Given the description of an element on the screen output the (x, y) to click on. 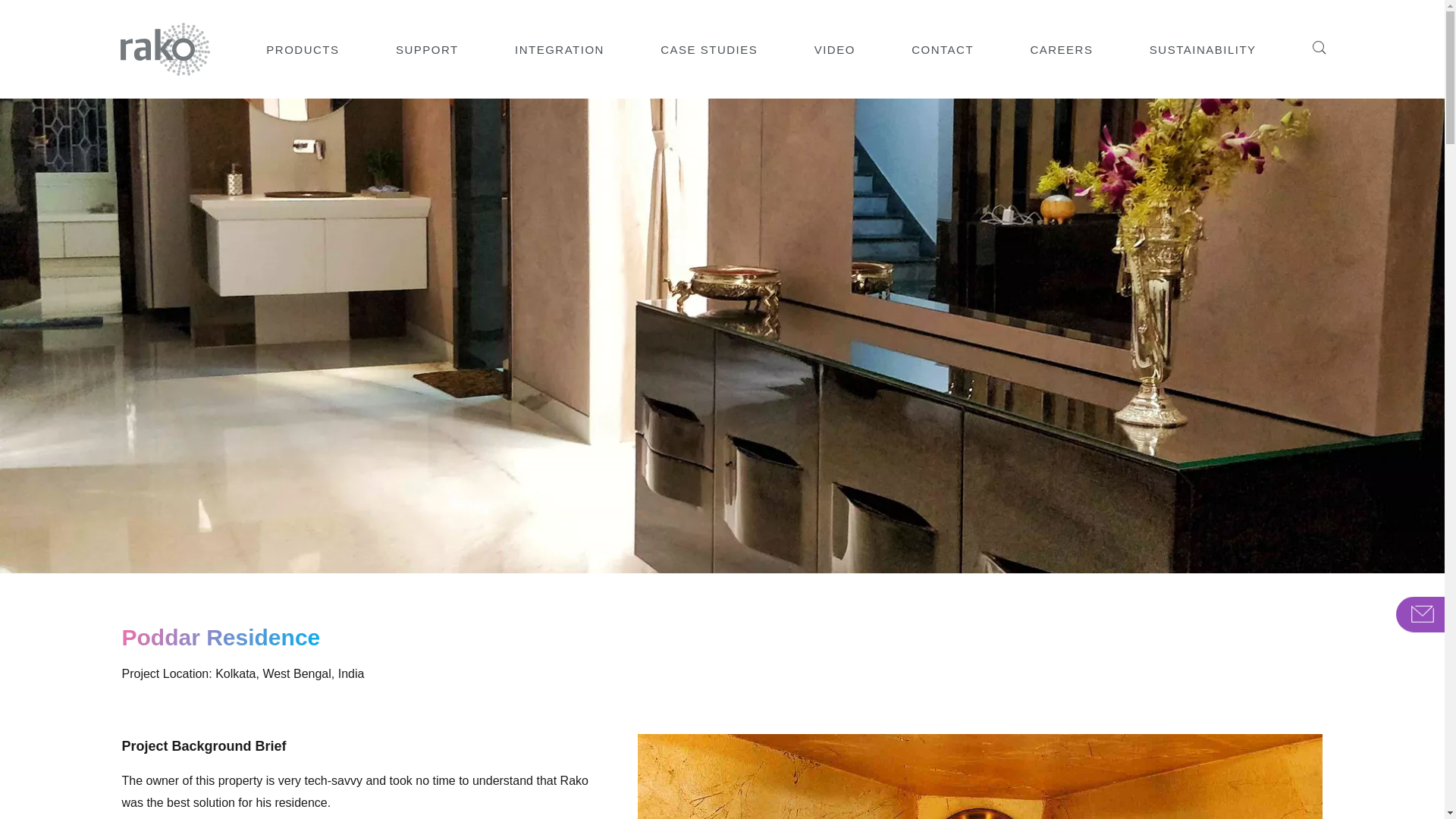
PRODUCTS (302, 49)
CASE STUDIES (709, 49)
CAREERS (1061, 49)
SUSTAINABILITY (1203, 49)
Search (1316, 43)
INTEGRATION (559, 49)
VIDEO (834, 49)
CONTACT (942, 49)
SUPPORT (427, 49)
